Given the description of an element on the screen output the (x, y) to click on. 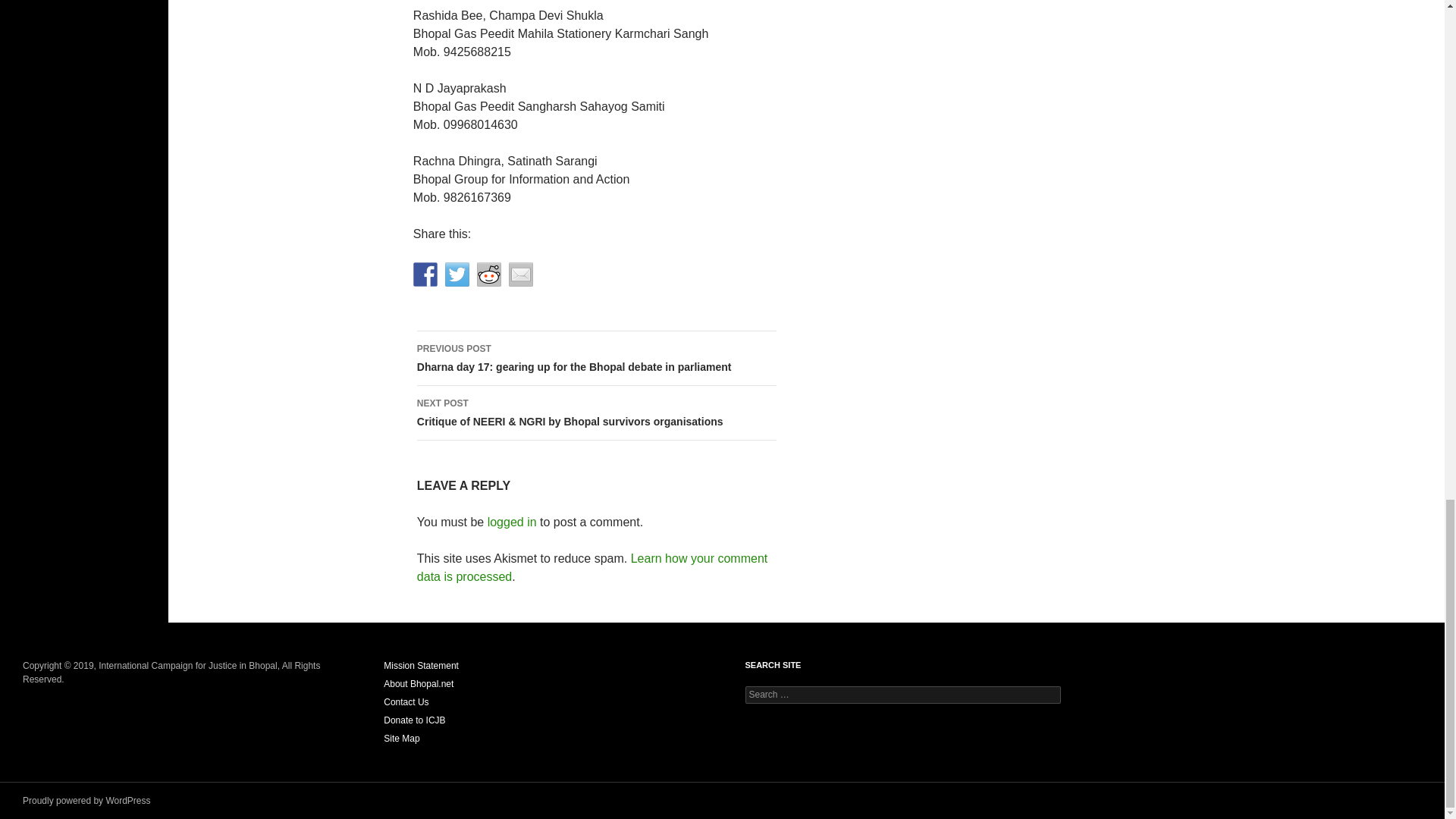
Share on Reddit (488, 274)
Tweet this! (456, 274)
Share by email (520, 274)
logged in (512, 521)
Share on Facebook (425, 274)
Learn how your comment data is processed (591, 567)
